Given the description of an element on the screen output the (x, y) to click on. 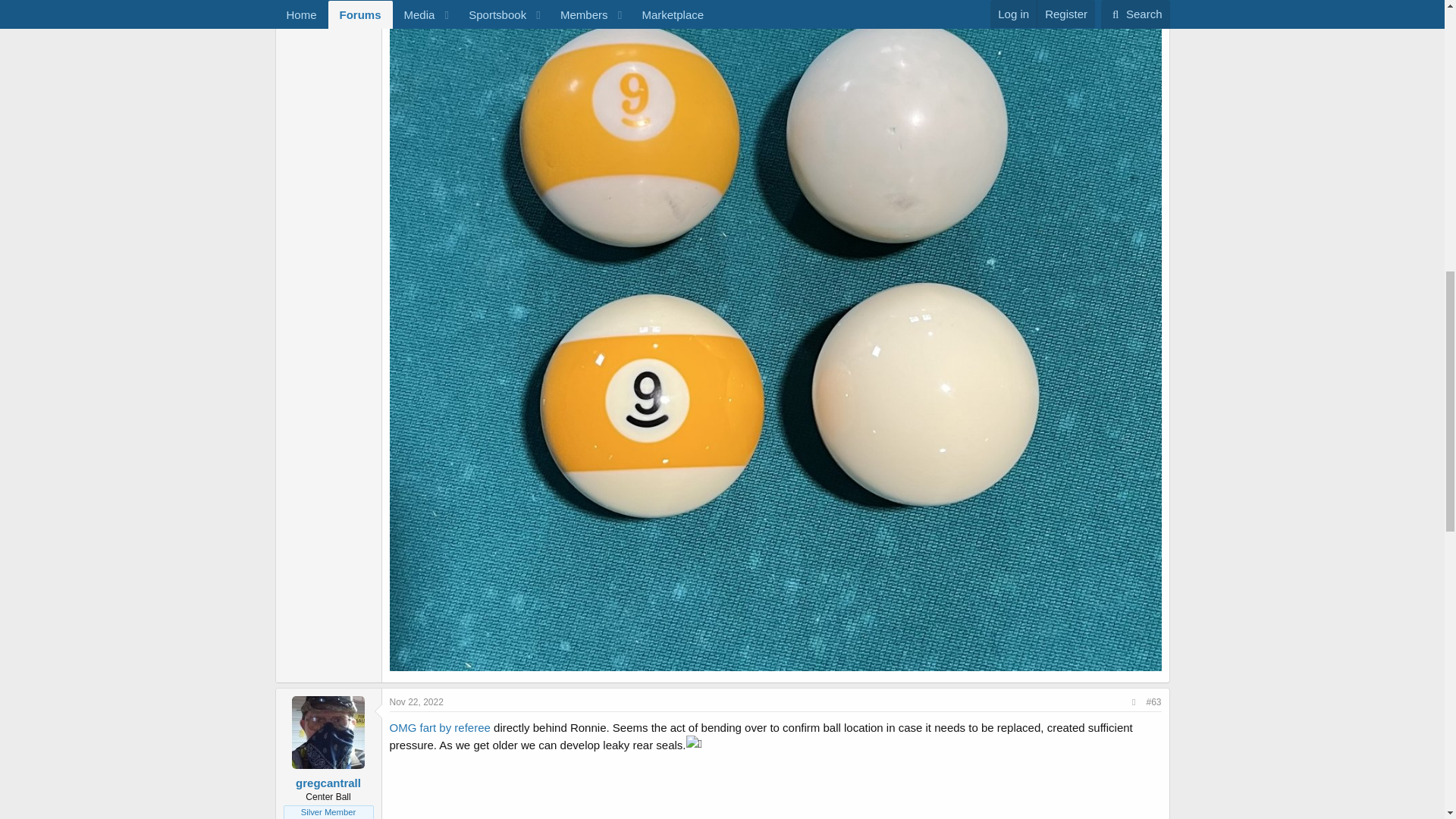
Nov 22, 2022 at 5:20 PM (417, 701)
